Given the description of an element on the screen output the (x, y) to click on. 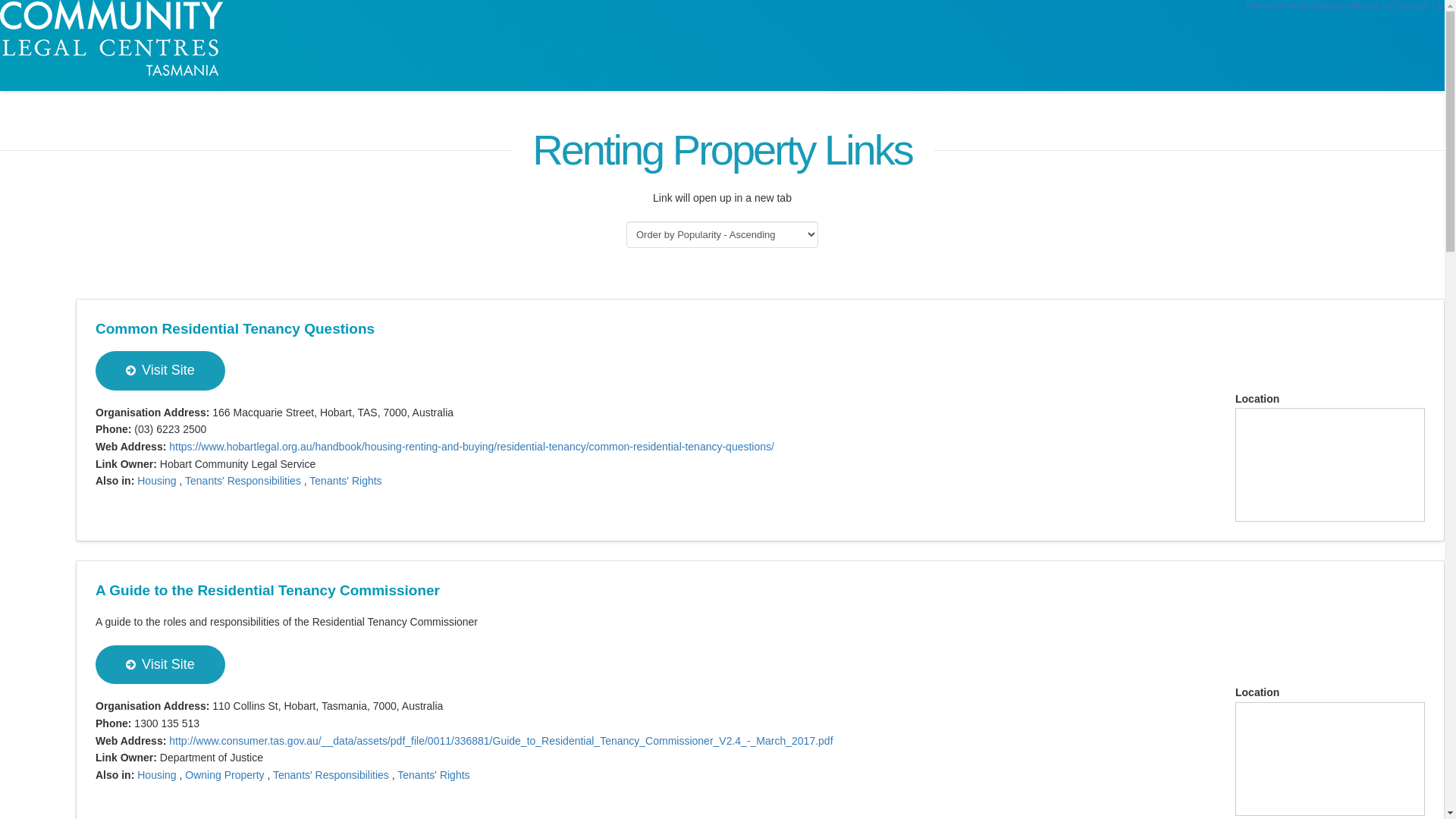
Visit Site Element type: text (160, 370)
Common Residential Tenancy Questions Element type: text (234, 328)
Owning Property Element type: text (224, 774)
Housing Element type: text (156, 774)
Home Element type: text (1259, 5)
Contact Us Element type: text (1418, 5)
Directory Element type: text (1295, 5)
Visit Site Element type: text (160, 664)
Tenants' Responsibilities Element type: text (243, 480)
Housing Element type: text (156, 480)
Search Element type: text (1332, 5)
About us Element type: text (1370, 5)
Tenants' Responsibilities Element type: text (331, 774)
Tenants' Rights Element type: text (345, 480)
A Guide to the Residential Tenancy Commissioner Element type: text (267, 590)
Tenants' Rights Element type: text (433, 774)
